Given the description of an element on the screen output the (x, y) to click on. 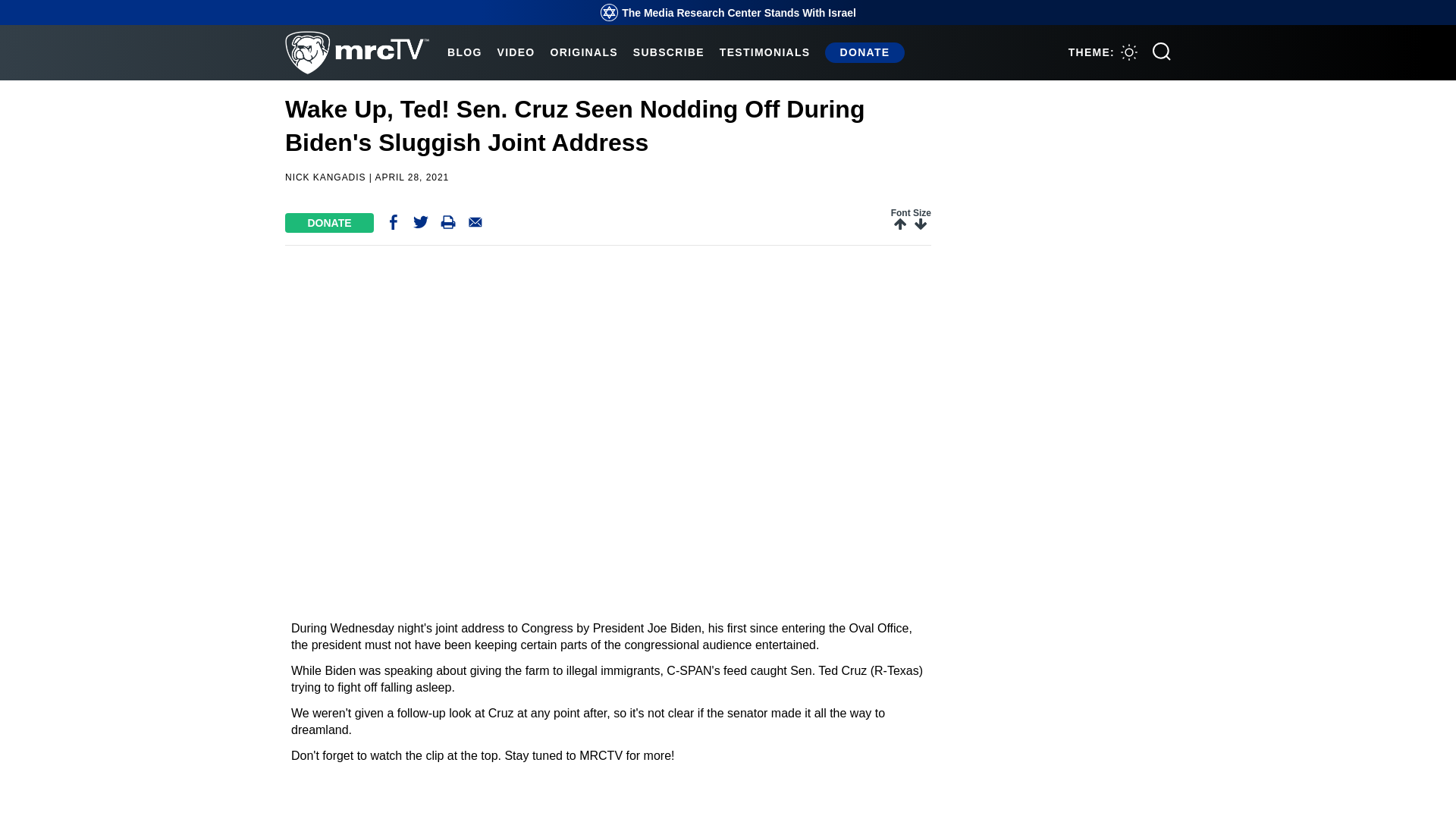
DONATE (864, 51)
DONATE (329, 222)
SUBSCRIBE (668, 51)
VIDEO (516, 51)
Print Page (448, 225)
THEME: (1102, 52)
NICK KANGADIS (325, 176)
View user profile. (325, 176)
ORIGINALS (583, 51)
Email This Blog (475, 225)
TESTIMONIALS (764, 51)
BLOG (463, 51)
